Given the description of an element on the screen output the (x, y) to click on. 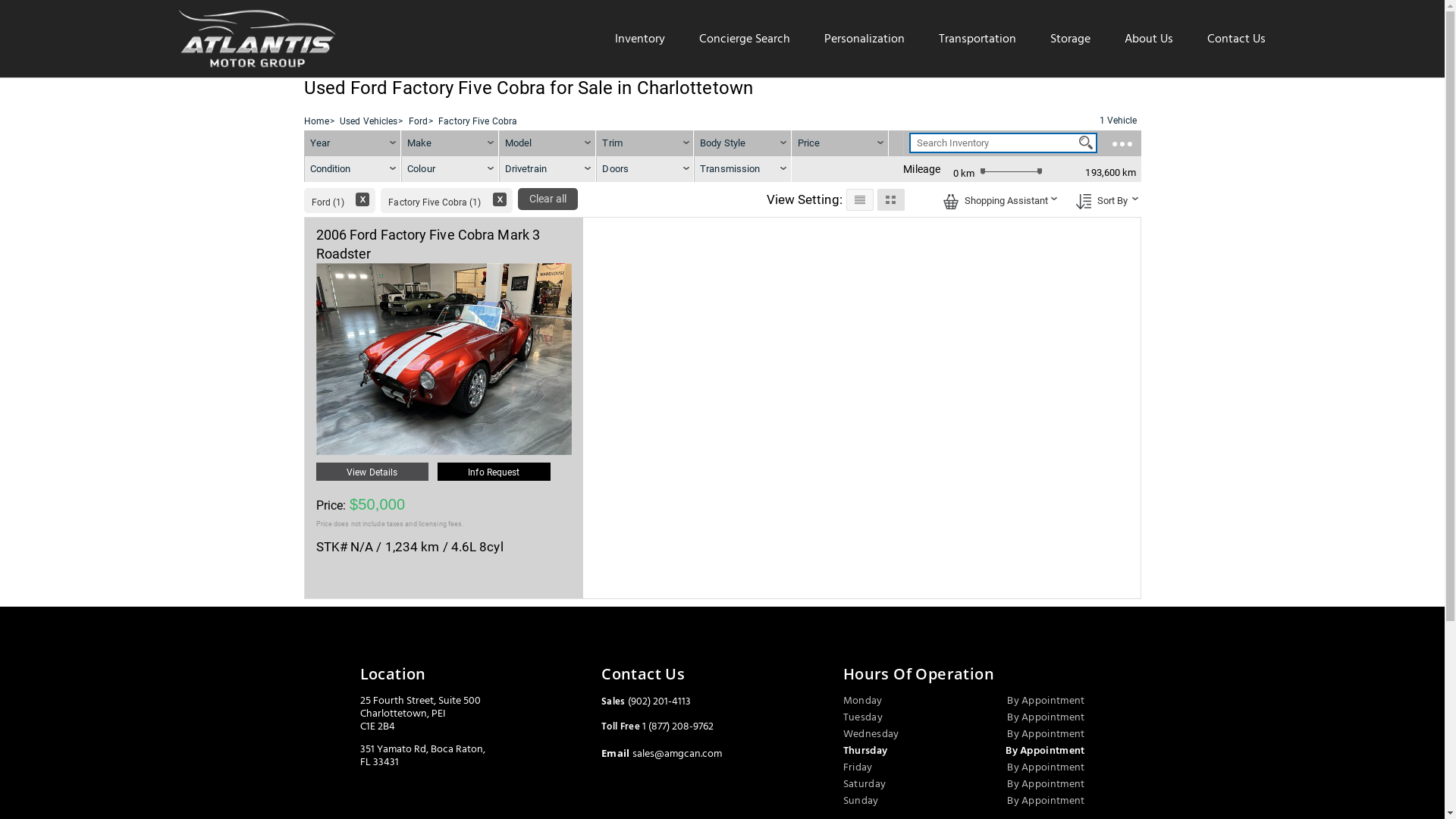
Ford Element type: text (417, 121)
351 Yamato Rd, Boca Raton,
FL 33431 Element type: text (421, 755)
Model Element type: text (547, 143)
Shopping Assistant Element type: text (996, 199)
Clear all Element type: text (547, 199)
Search Element type: hover (1085, 142)
Drivetrain Element type: text (547, 169)
Sort By Element type: text (1102, 199)
Condition Element type: text (352, 169)
Info Request Element type: text (493, 471)
Transportation Element type: text (977, 38)
View Details Element type: text (371, 471)
Sales (902) 201-4113 Element type: text (645, 700)
Toll Free 1 (877) 208-9762 Element type: text (657, 725)
Contact Us Element type: text (1236, 38)
Used Vehicles Element type: text (368, 121)
About Us Element type: text (1148, 38)
Year Element type: text (352, 143)
Colour Element type: text (449, 169)
Shopping Assistant Element type: hover (950, 201)
Price Element type: text (808, 142)
Inventory Element type: text (640, 38)
Personalization Element type: text (864, 38)
Make Element type: text (449, 143)
Grid View Element type: hover (890, 199)
Transmission Element type: text (742, 169)
Email sales@amgcan.com Element type: text (661, 753)
Sort By Element type: hover (1082, 201)
Factory Five Cobra Element type: text (477, 121)
Trim Element type: text (644, 143)
25 Fourth Street, Suite 500
Charlottetown, PEI
C1E 2B4 Element type: text (419, 712)
Listing View Element type: hover (859, 199)
Doors Element type: text (644, 169)
Body Style Element type: text (742, 143)
Home Element type: text (315, 121)
Storage Element type: text (1070, 38)
2006 Ford Factory Five Cobra Mark 3 Roadster Element type: text (427, 243)
Concierge Search Element type: text (744, 38)
